Given the description of an element on the screen output the (x, y) to click on. 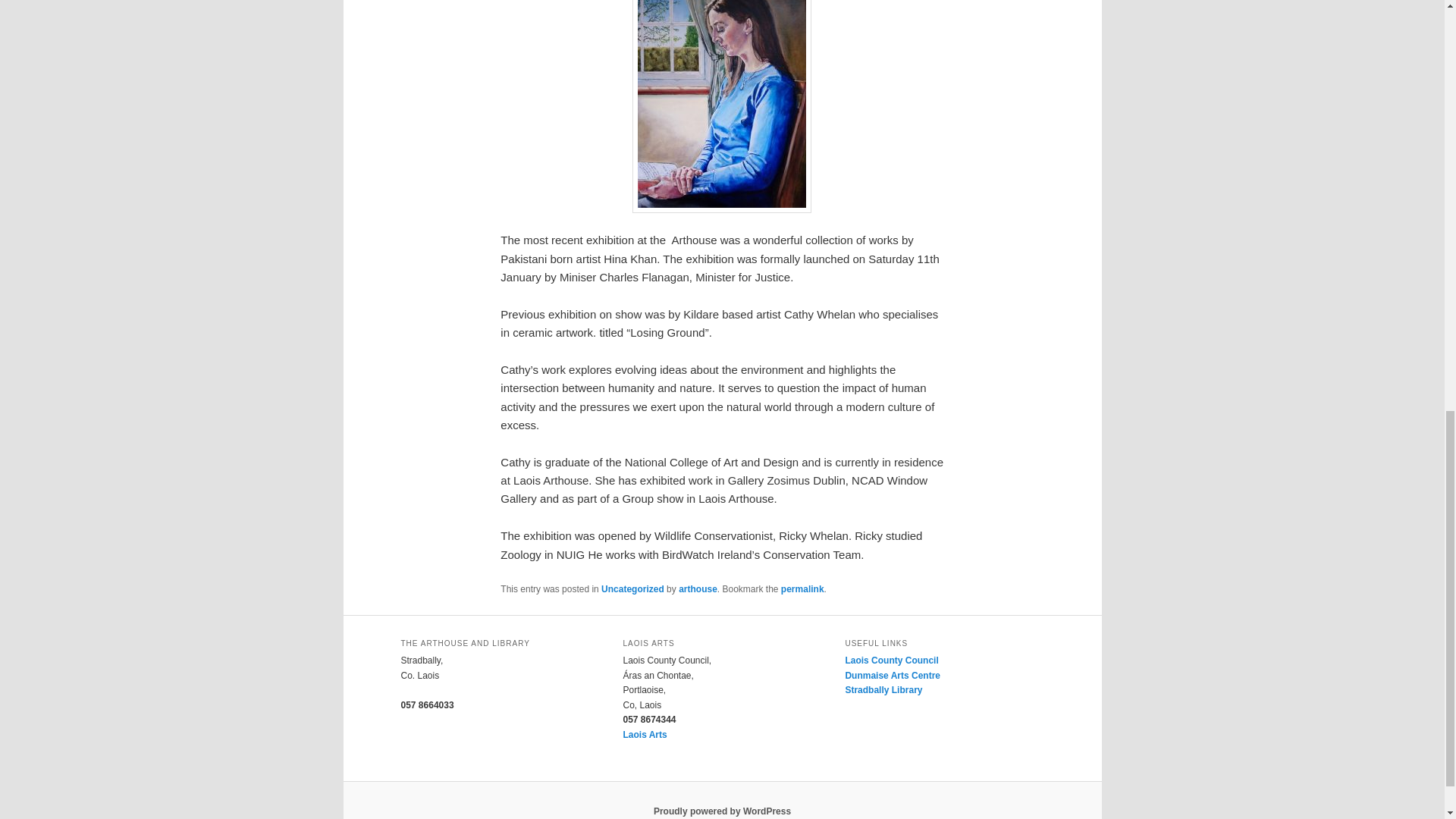
Uncategorized (632, 588)
Stradbally Library (882, 689)
permalink (802, 588)
arthouse (697, 588)
Dunmaise Arts Centre (892, 675)
Semantic Personal Publishing Platform (721, 810)
Laois County Council (890, 660)
Laois Arts (644, 734)
Proudly powered by WordPress (721, 810)
